Given the description of an element on the screen output the (x, y) to click on. 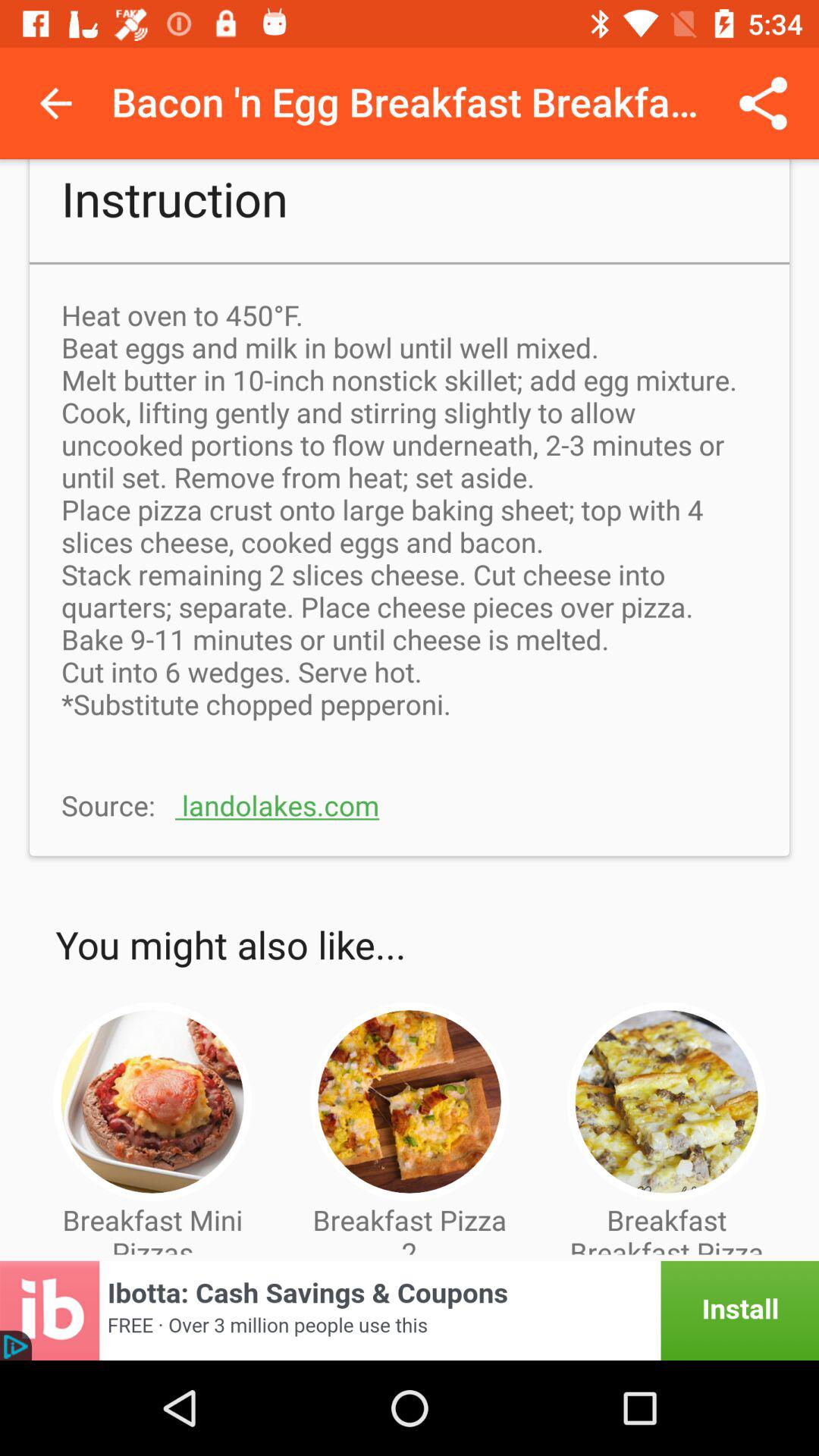
select the text which is to the immediate right of source (277, 805)
select share icon which is at the top right side of the page (763, 103)
click on the image which is above the text breakfast breakfast pizza (666, 1102)
